Given the description of an element on the screen output the (x, y) to click on. 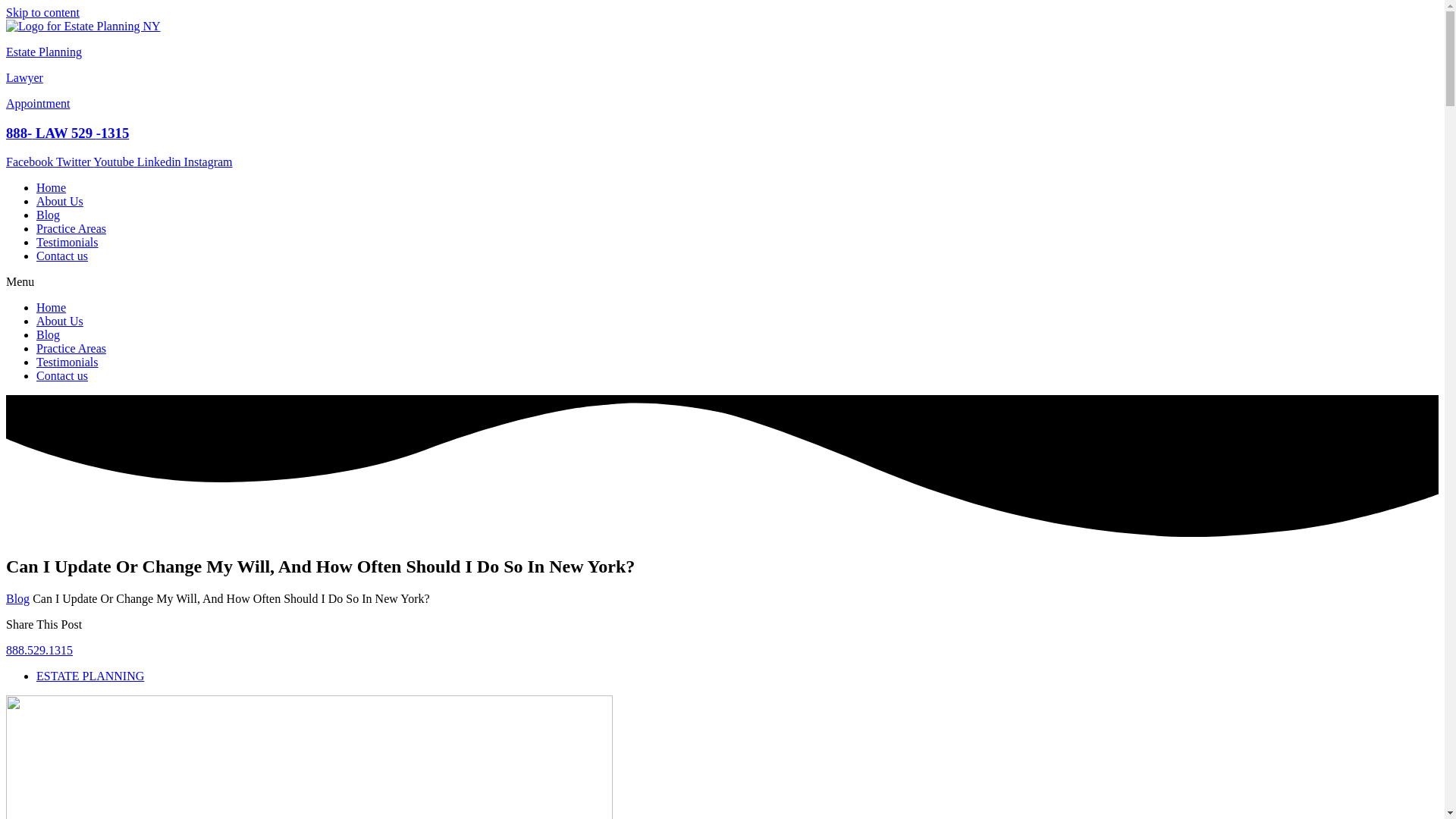
Home (50, 307)
Testimonials (67, 241)
Youtube (114, 161)
Estate Planning (43, 51)
Contact us (61, 375)
About Us (59, 201)
Practice Areas (71, 348)
Home (50, 187)
About Us (59, 320)
Practice Areas (71, 228)
